Given the description of an element on the screen output the (x, y) to click on. 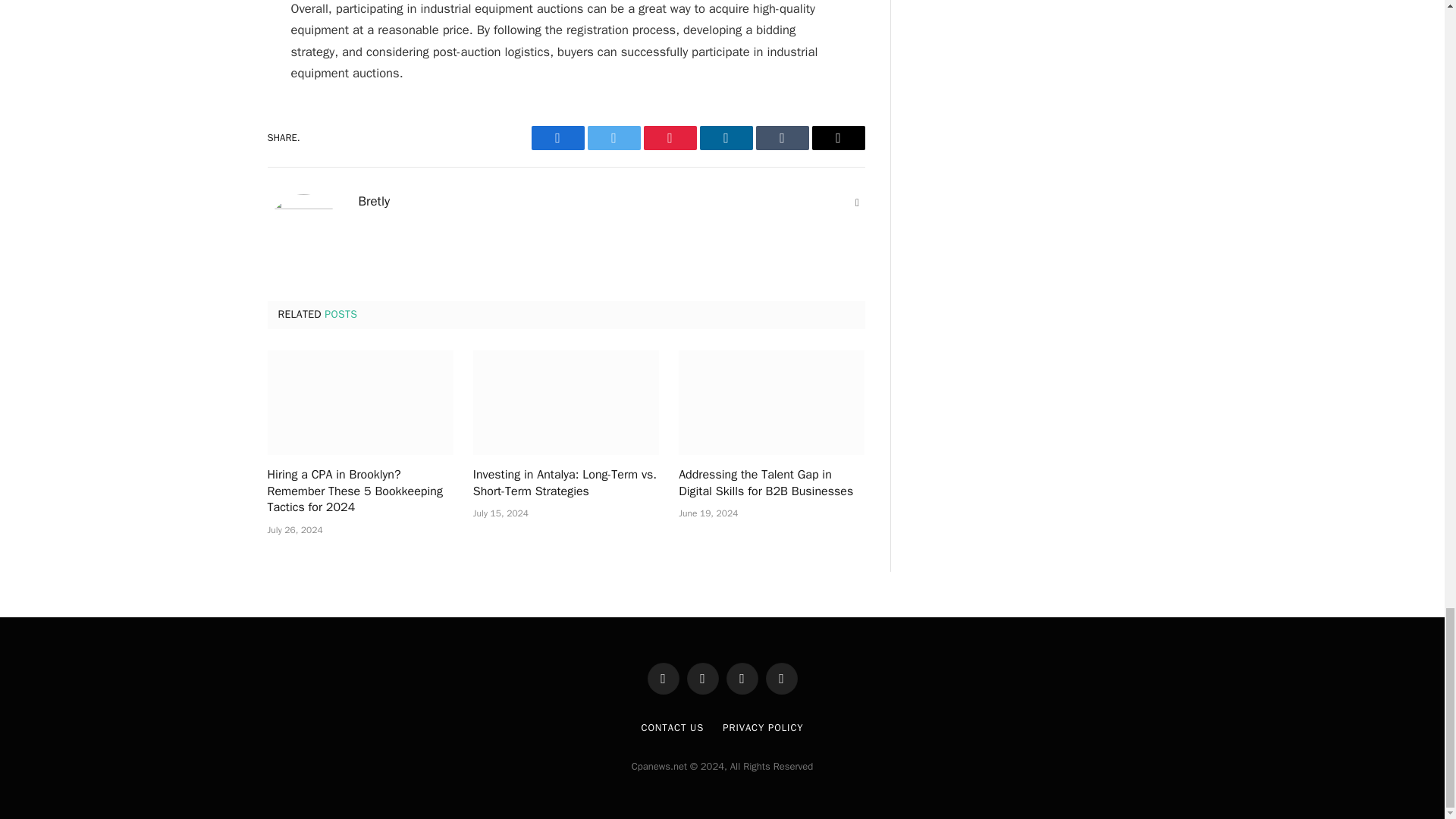
Twitter (613, 137)
Facebook (557, 137)
Pinterest (669, 137)
